Given the description of an element on the screen output the (x, y) to click on. 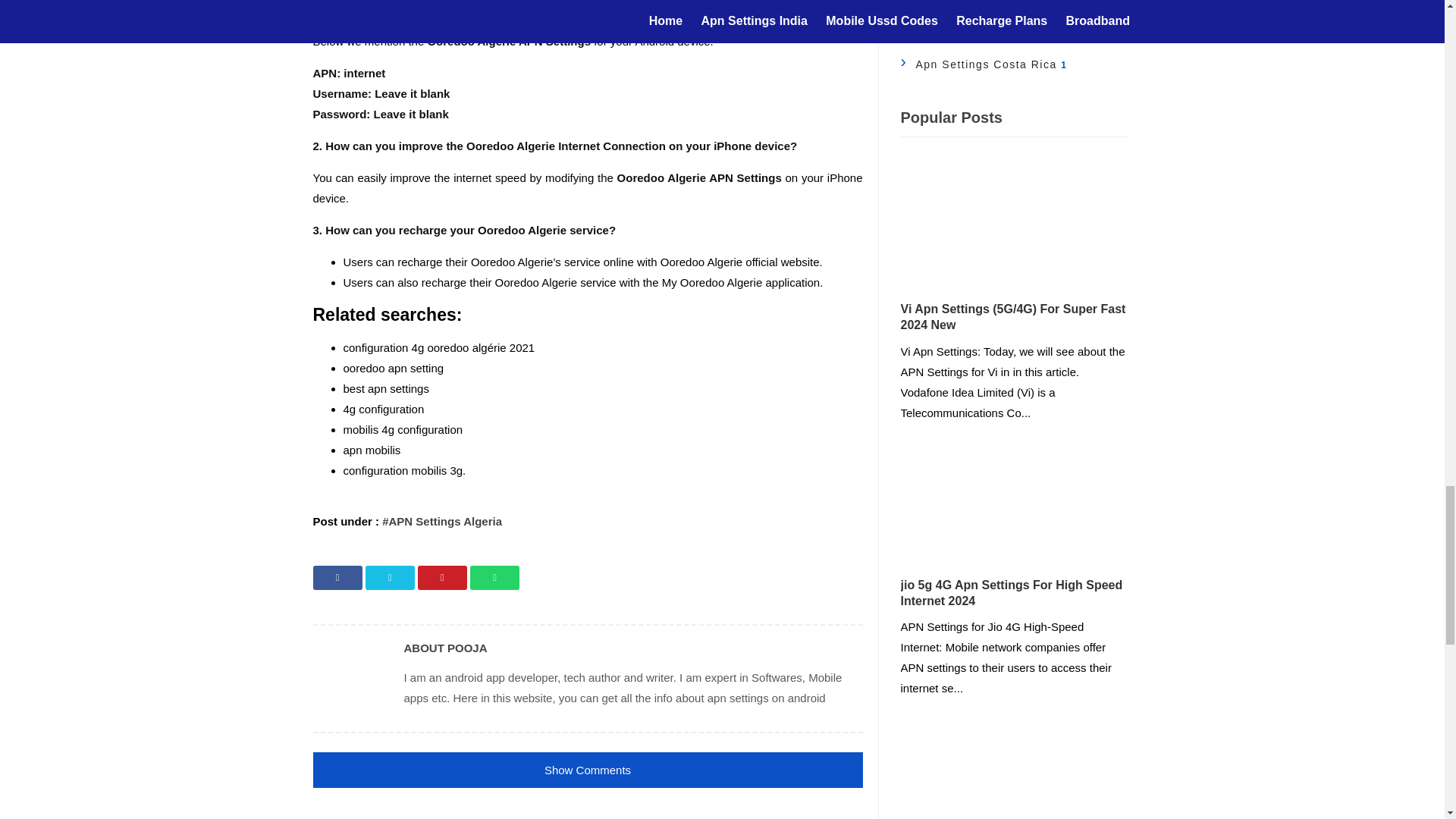
Author Profile (350, 678)
Pinterest (442, 577)
APN Settings Algeria (441, 521)
WhatsApp (494, 577)
